Given the description of an element on the screen output the (x, y) to click on. 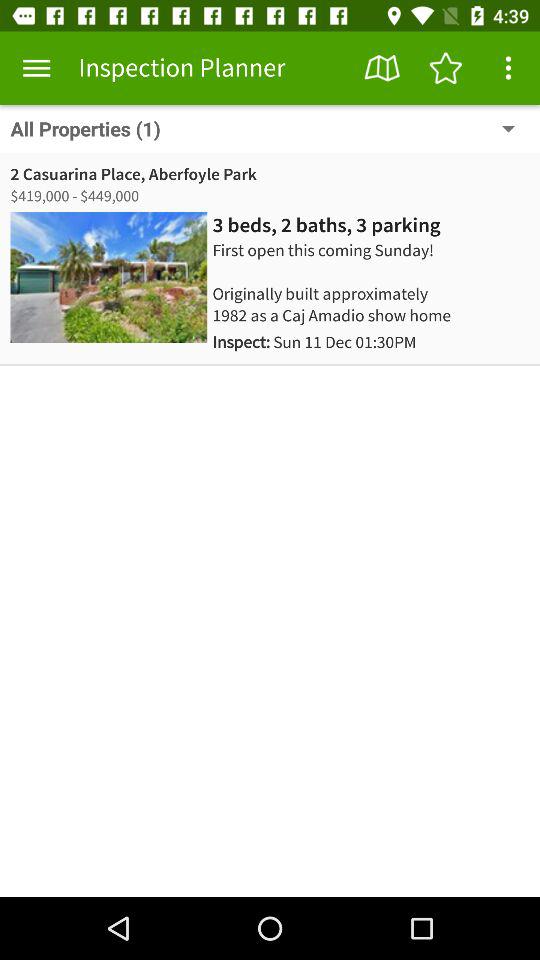
turn on the app to the left of inspection planner item (36, 68)
